Given the description of an element on the screen output the (x, y) to click on. 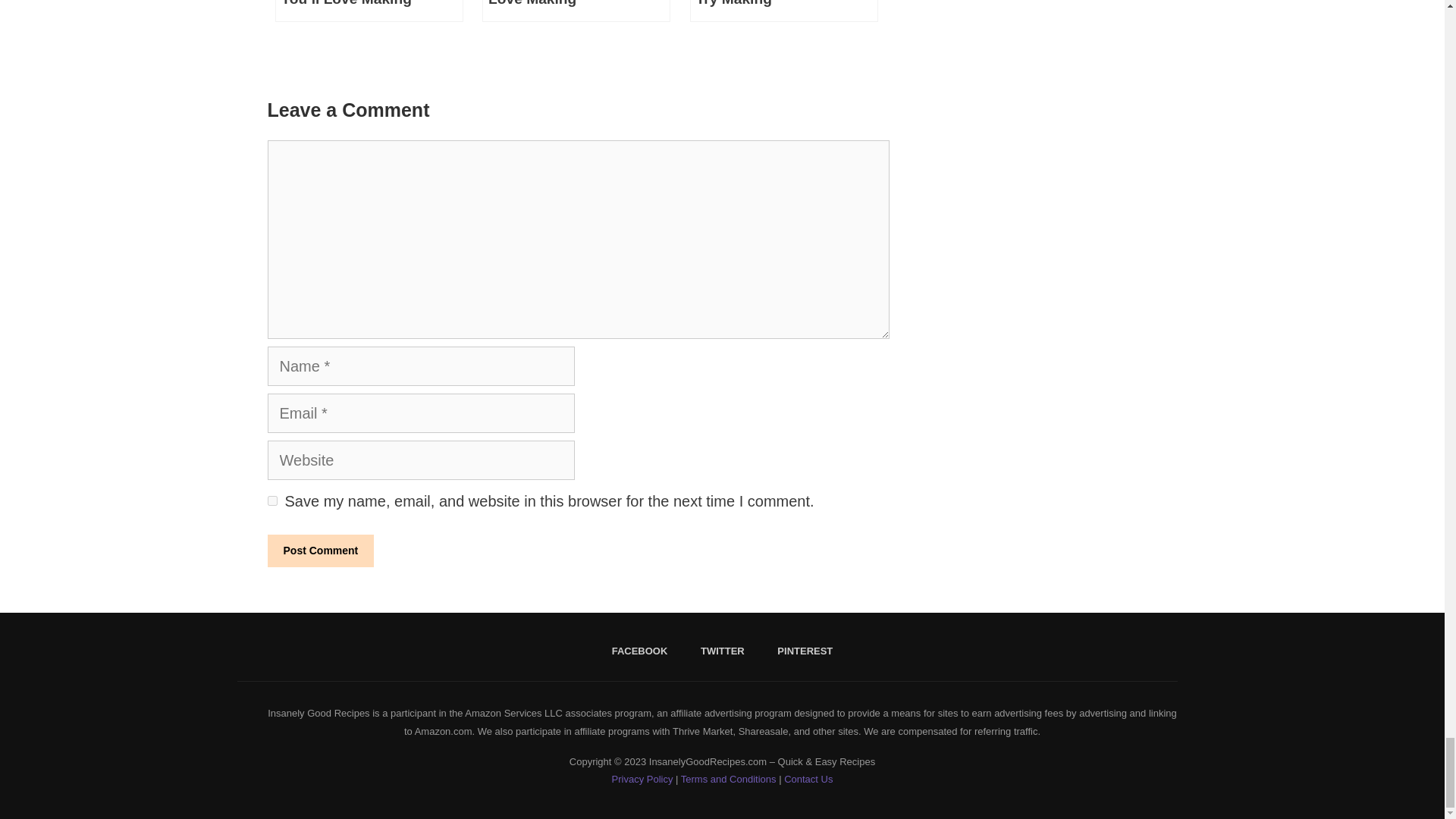
Post Comment (320, 550)
23 Easy Asian Desserts to Try Making (783, 11)
yes (271, 501)
